Given the description of an element on the screen output the (x, y) to click on. 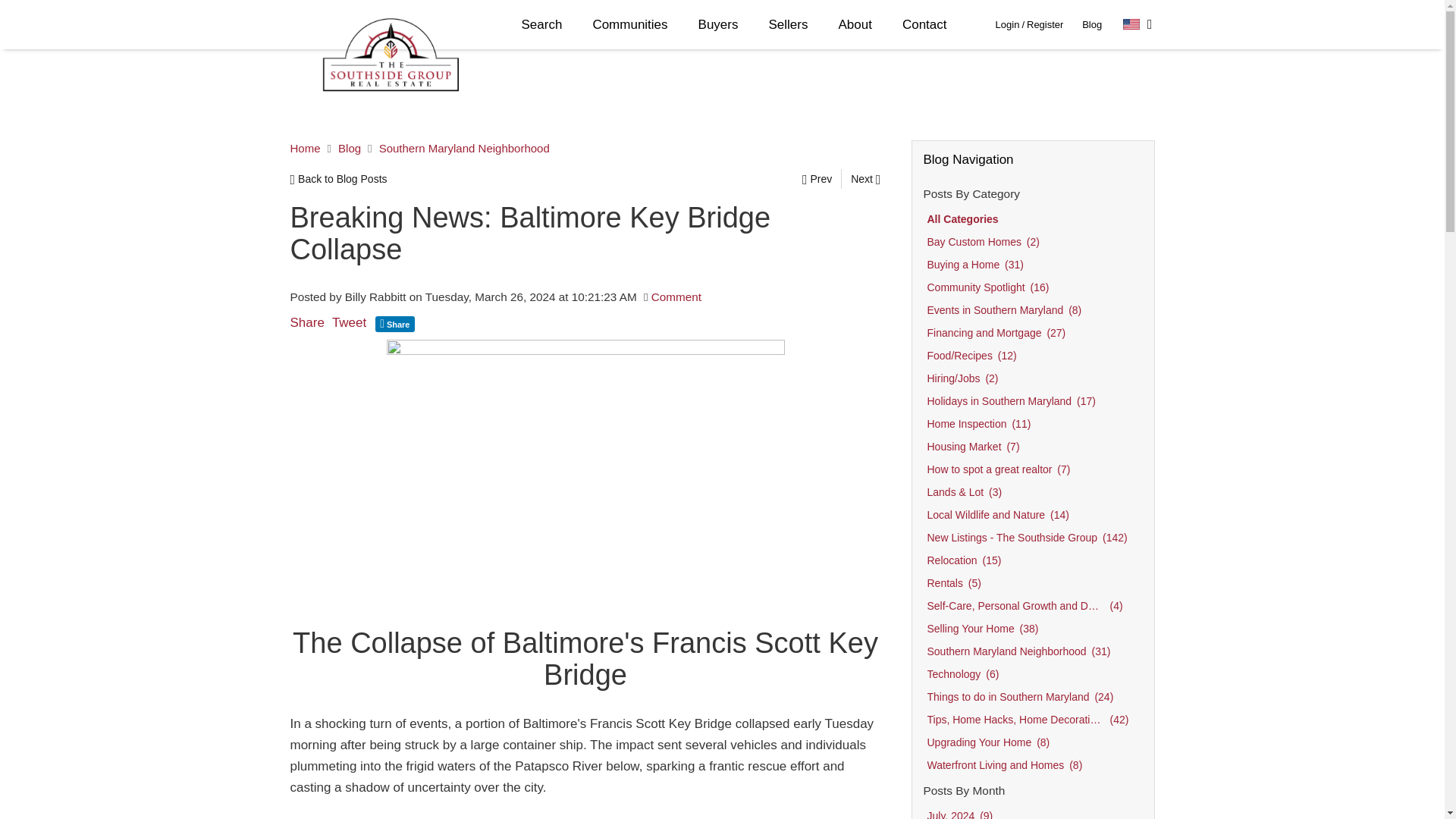
Buyers (718, 24)
Sellers (789, 24)
About (854, 24)
Register (1044, 24)
Contact (924, 24)
Search (542, 24)
Select Language (1137, 24)
Communities (629, 24)
